Given the description of an element on the screen output the (x, y) to click on. 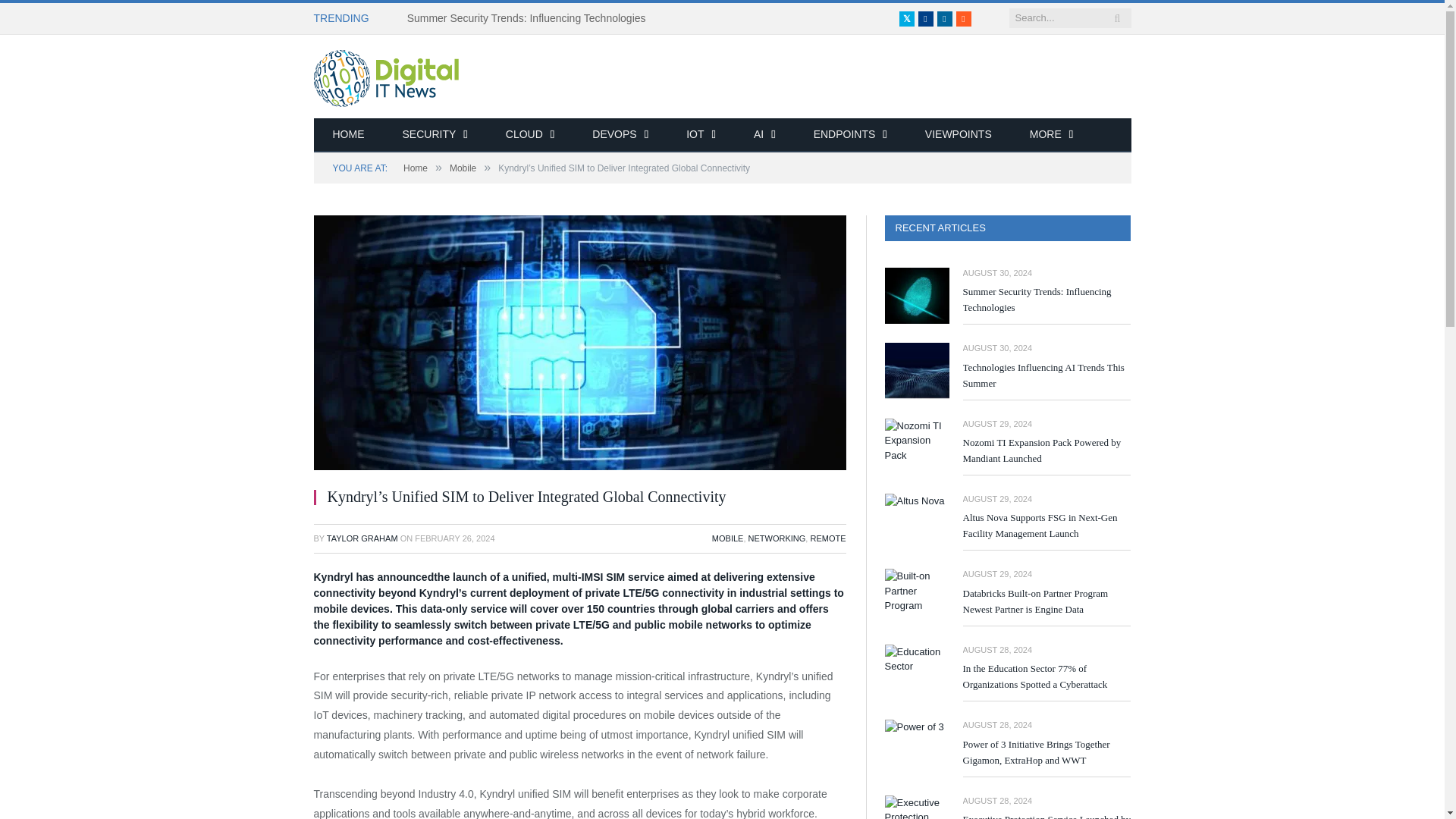
Summer Security Trends: Influencing Technologies (530, 18)
RSS (963, 18)
RSS (963, 18)
Summer Security Trends: Influencing Technologies (530, 18)
Facebook (925, 18)
Home (349, 134)
CLOUD (529, 134)
Digital IT News (386, 75)
Facebook (925, 18)
LinkedIn (944, 18)
